Given the description of an element on the screen output the (x, y) to click on. 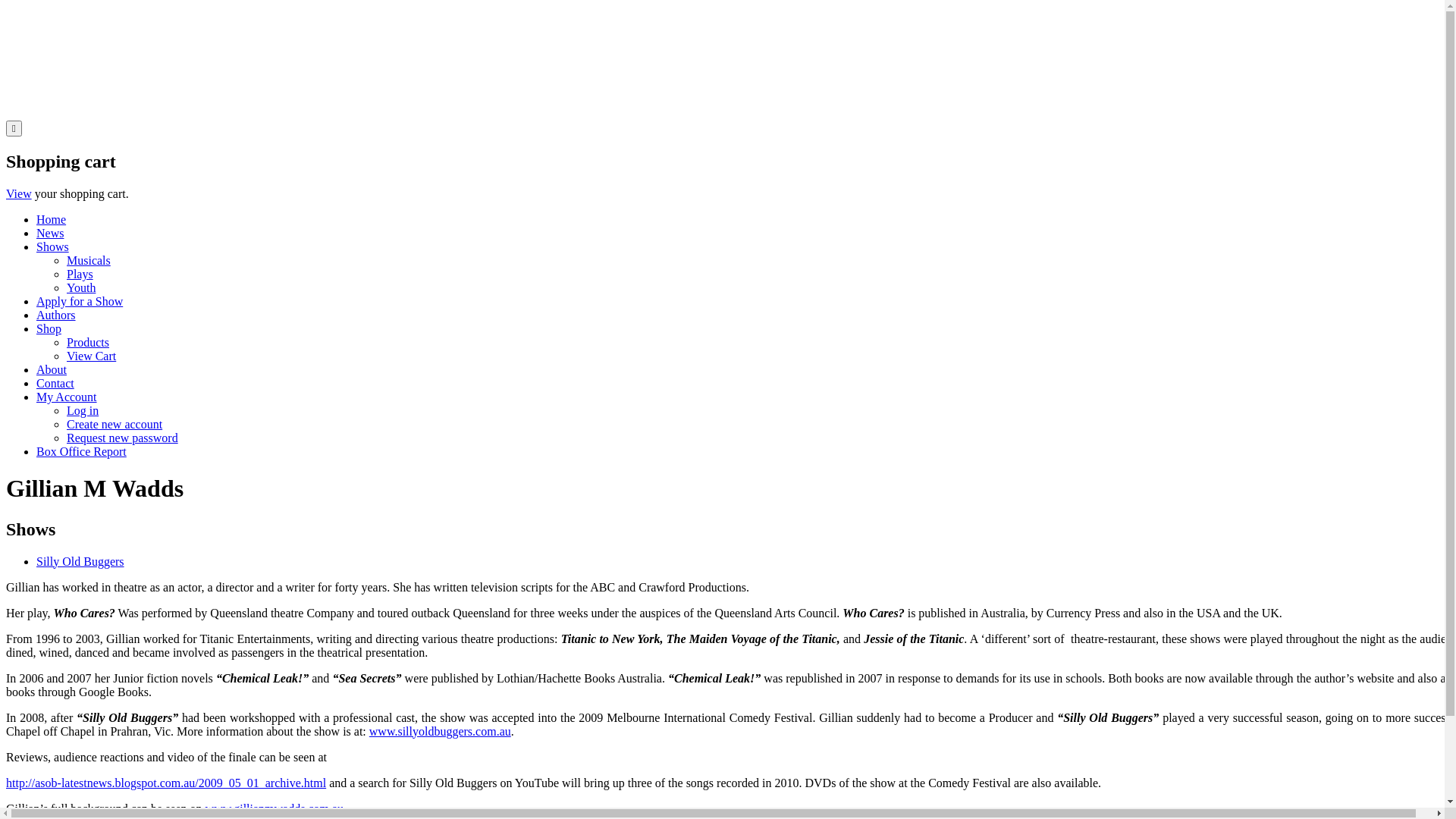
www.gillianmwadds.com.au Element type: text (274, 808)
Log in Element type: text (82, 410)
Plays Element type: text (79, 273)
Shows Element type: text (52, 246)
Box Office Report Element type: text (81, 451)
My Account Element type: text (66, 396)
Home Element type: text (50, 219)
Contact Element type: text (55, 382)
News Element type: text (49, 232)
Apply for a Show Element type: text (79, 300)
Shop Element type: text (48, 328)
Youth Element type: text (80, 287)
Request new password Element type: text (122, 437)
www.sillyoldbuggers.com.au Element type: text (440, 730)
DSP Element type: hover (199, 112)
View Element type: text (18, 193)
About Element type: text (51, 369)
Musicals Element type: text (88, 260)
Create new account Element type: text (114, 423)
View Cart Element type: text (91, 355)
Products Element type: text (87, 341)
Authors Element type: text (55, 314)
Silly Old Buggers Element type: text (80, 561)
